Given the description of an element on the screen output the (x, y) to click on. 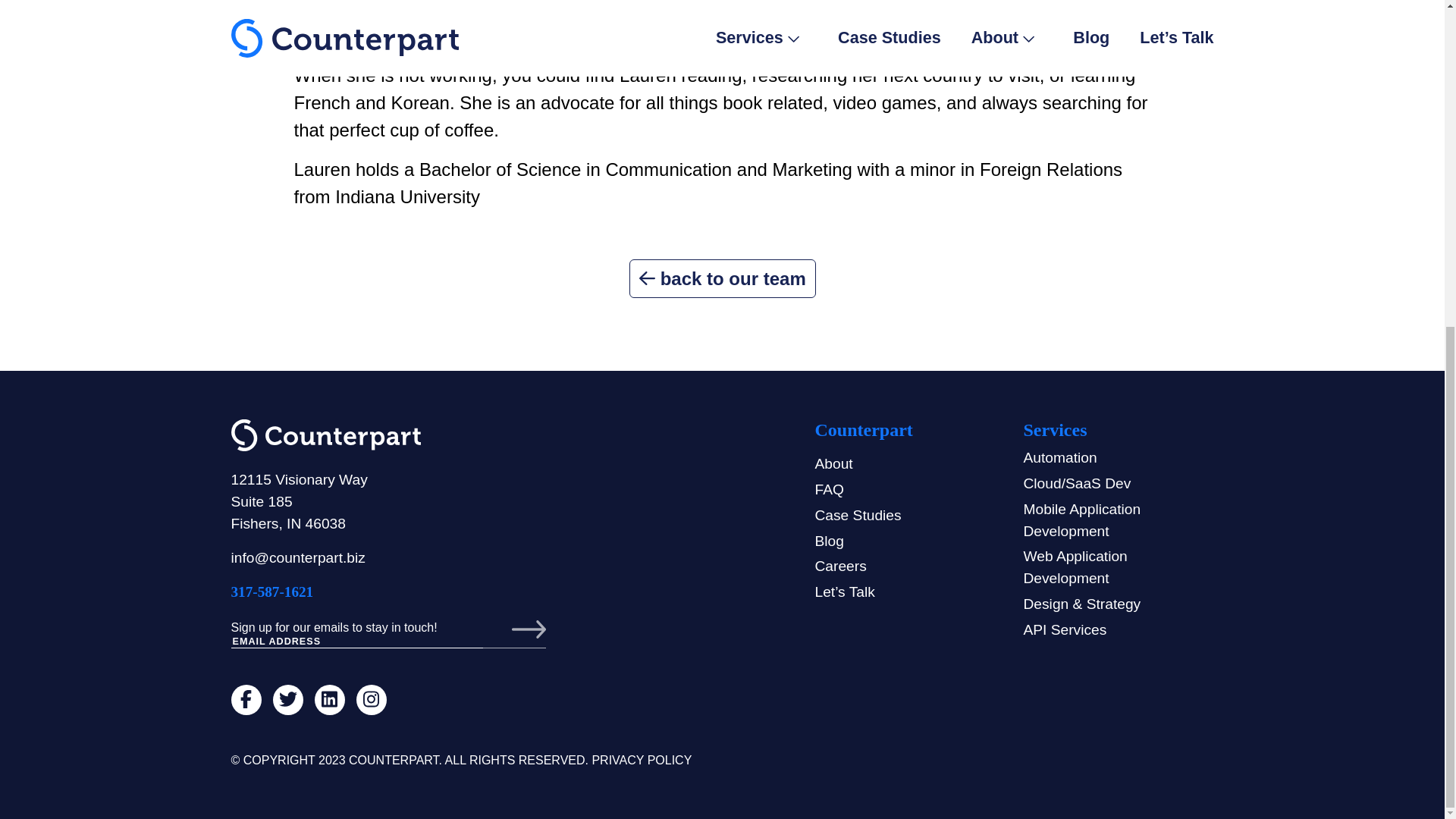
Subscribe (514, 629)
counterpart-brandmark-primary (325, 435)
